Given the description of an element on the screen output the (x, y) to click on. 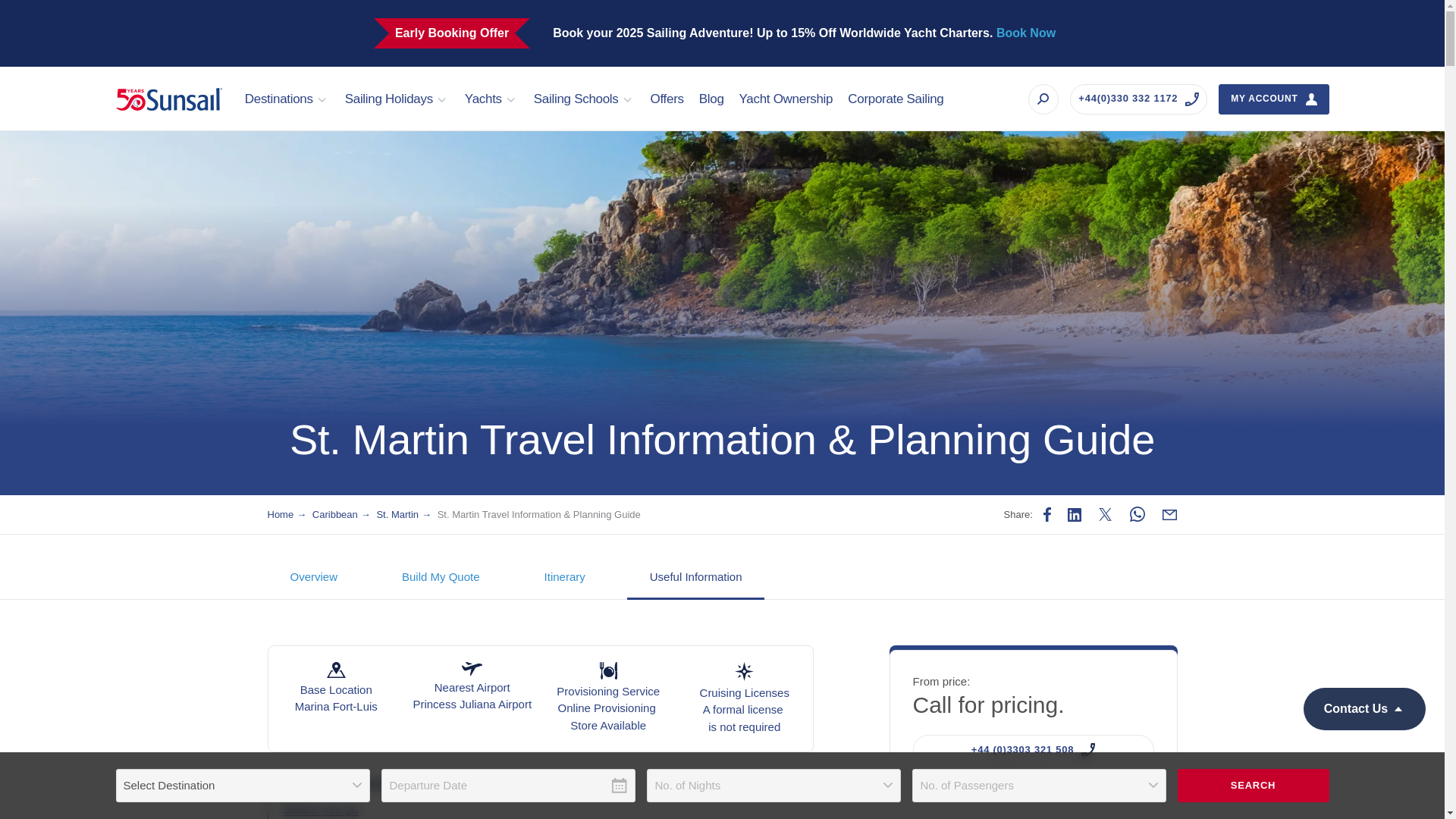
Share on Twitter (1105, 513)
Book Now (1025, 32)
Destinations (287, 98)
Build My Quote (440, 578)
Itinerary (564, 578)
Sailing Holidays (397, 98)
Share on Linkedin (1074, 514)
Useful Information (696, 578)
Yachts (491, 98)
Overview (312, 578)
